Given the description of an element on the screen output the (x, y) to click on. 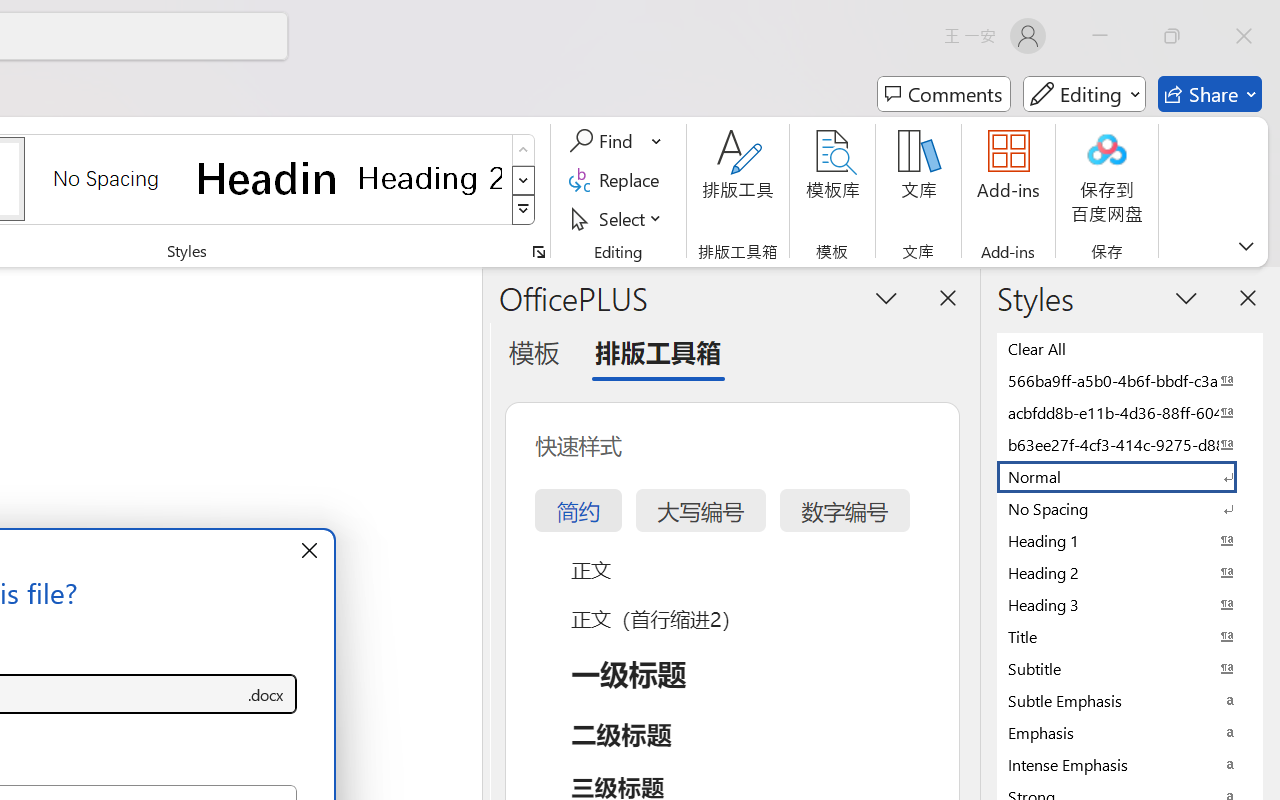
566ba9ff-a5b0-4b6f-bbdf-c3ab41993fc2 (1130, 380)
Clear All (1130, 348)
Task Pane Options (886, 297)
Comments (943, 94)
No Spacing (1130, 508)
Subtle Emphasis (1130, 700)
Share (1210, 94)
Emphasis (1130, 732)
Normal (1130, 476)
Minimize (1099, 36)
Title (1130, 636)
